Given the description of an element on the screen output the (x, y) to click on. 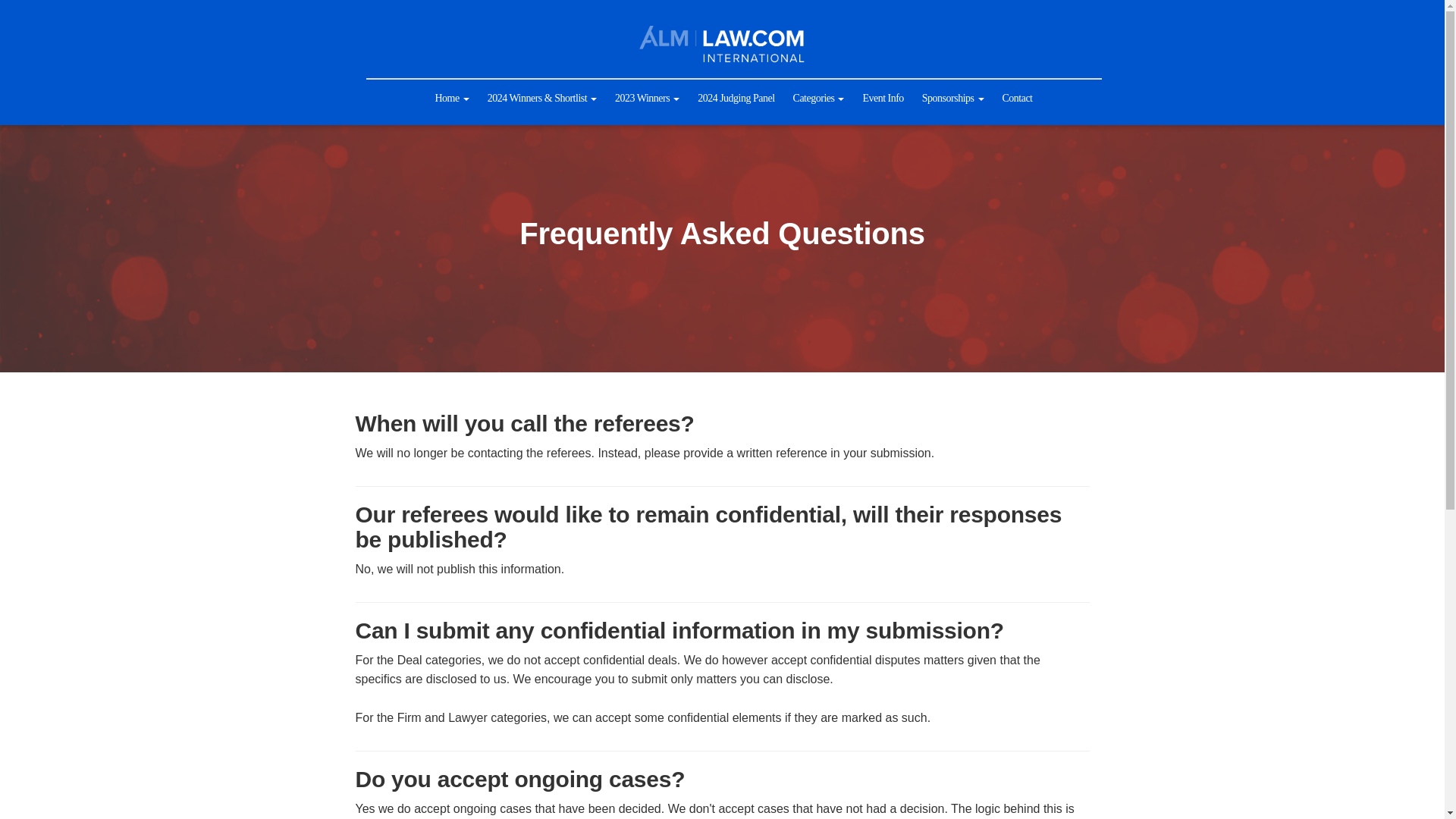
Sponsorships (952, 98)
Home (451, 98)
Contact (1016, 98)
Categories (818, 98)
2024 Judging Panel (735, 98)
Event Info (882, 98)
2023 Winners (647, 98)
